Given the description of an element on the screen output the (x, y) to click on. 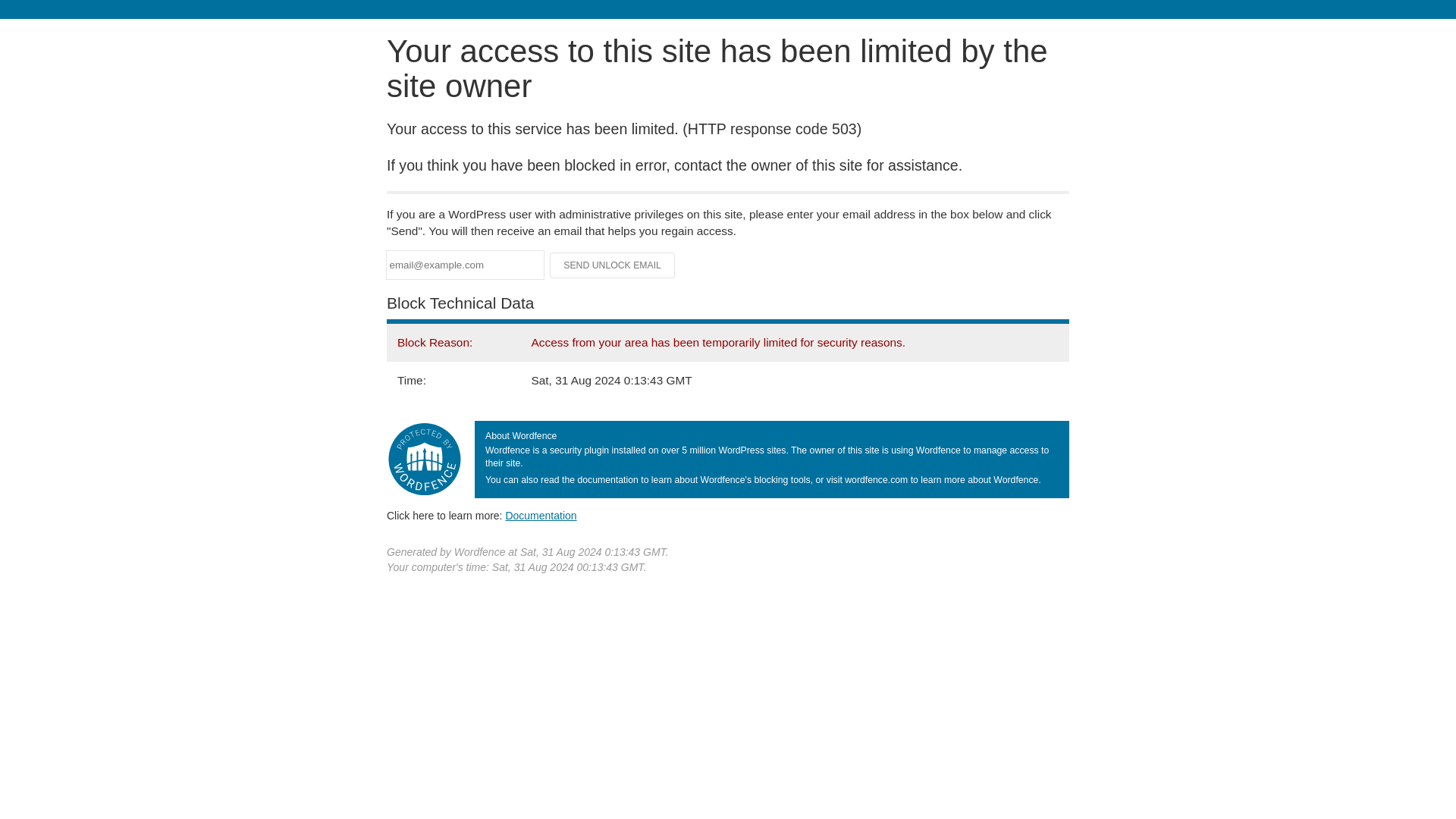
Send Unlock Email (612, 265)
Send Unlock Email (612, 265)
Documentation (540, 515)
